Given the description of an element on the screen output the (x, y) to click on. 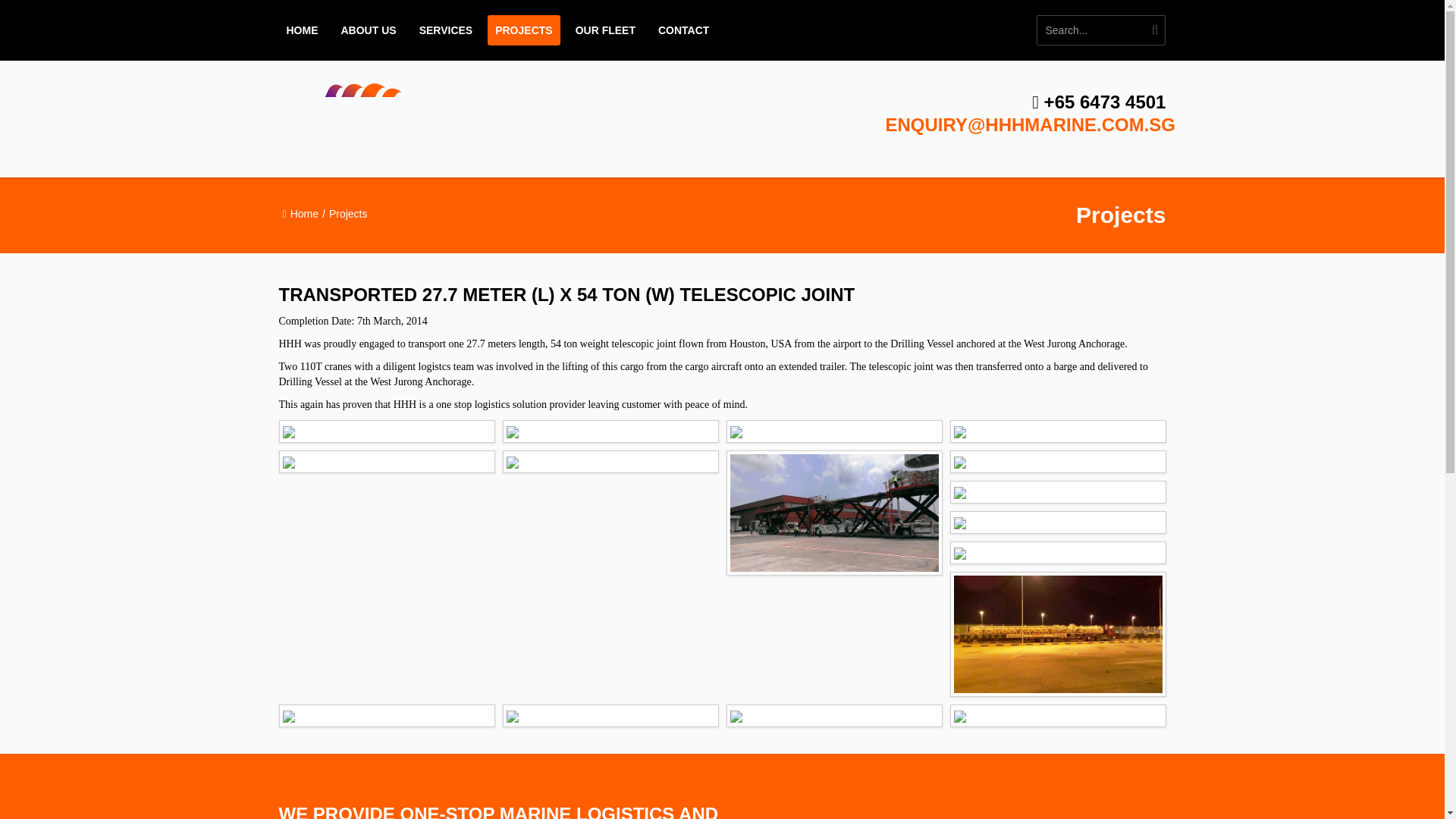
Home (303, 214)
PROJECTS (523, 30)
ABOUT US (368, 30)
CONTACT (683, 30)
HOME (302, 30)
OUR FLEET (605, 30)
SERVICES (446, 30)
